Given the description of an element on the screen output the (x, y) to click on. 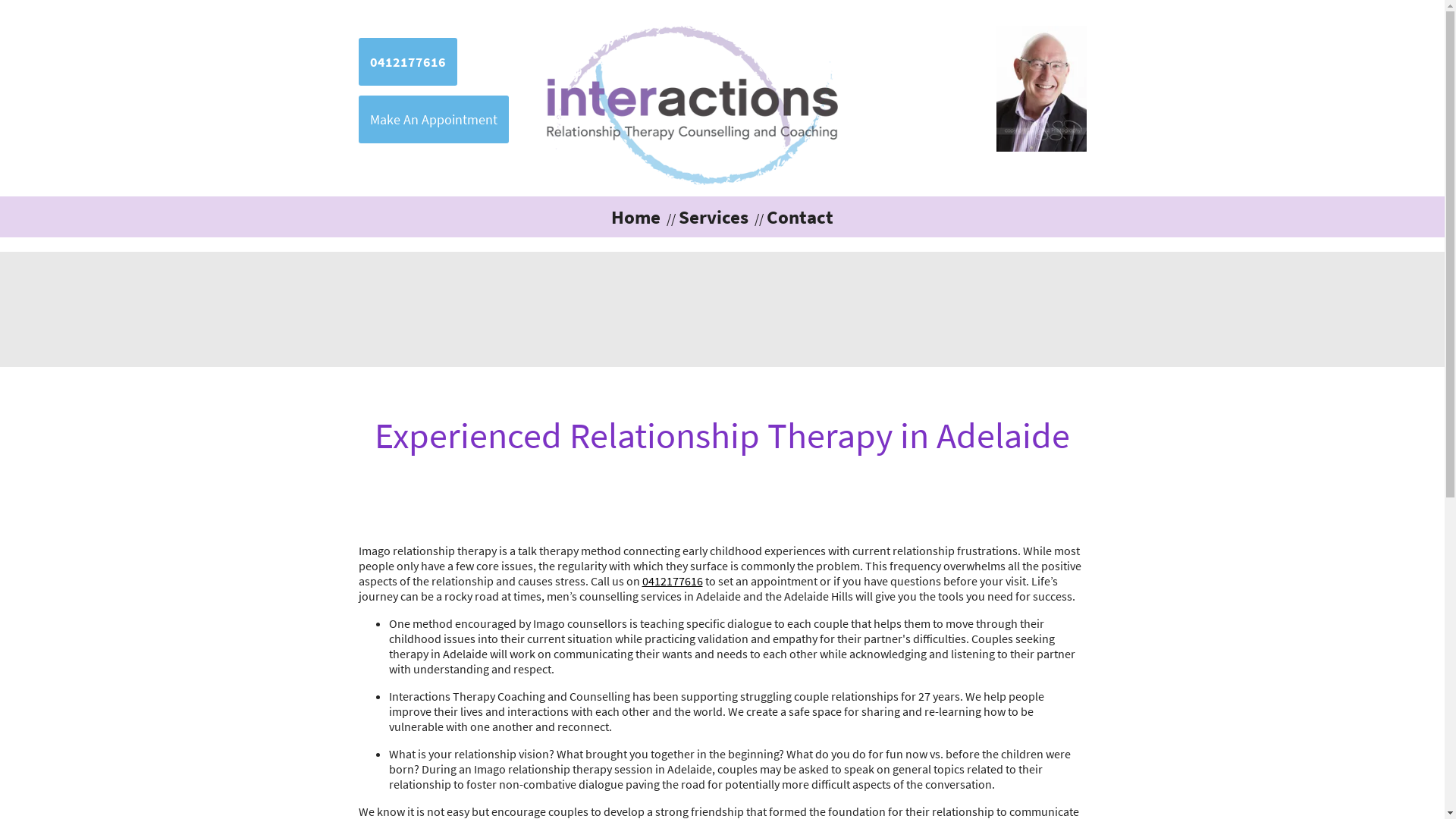
0412177616 Element type: text (671, 580)
0412177616 Element type: text (406, 61)
Make An Appointment Element type: text (432, 119)
Services Element type: text (707, 216)
Home Element type: text (635, 216)
Contact Element type: text (793, 216)
